Given the description of an element on the screen output the (x, y) to click on. 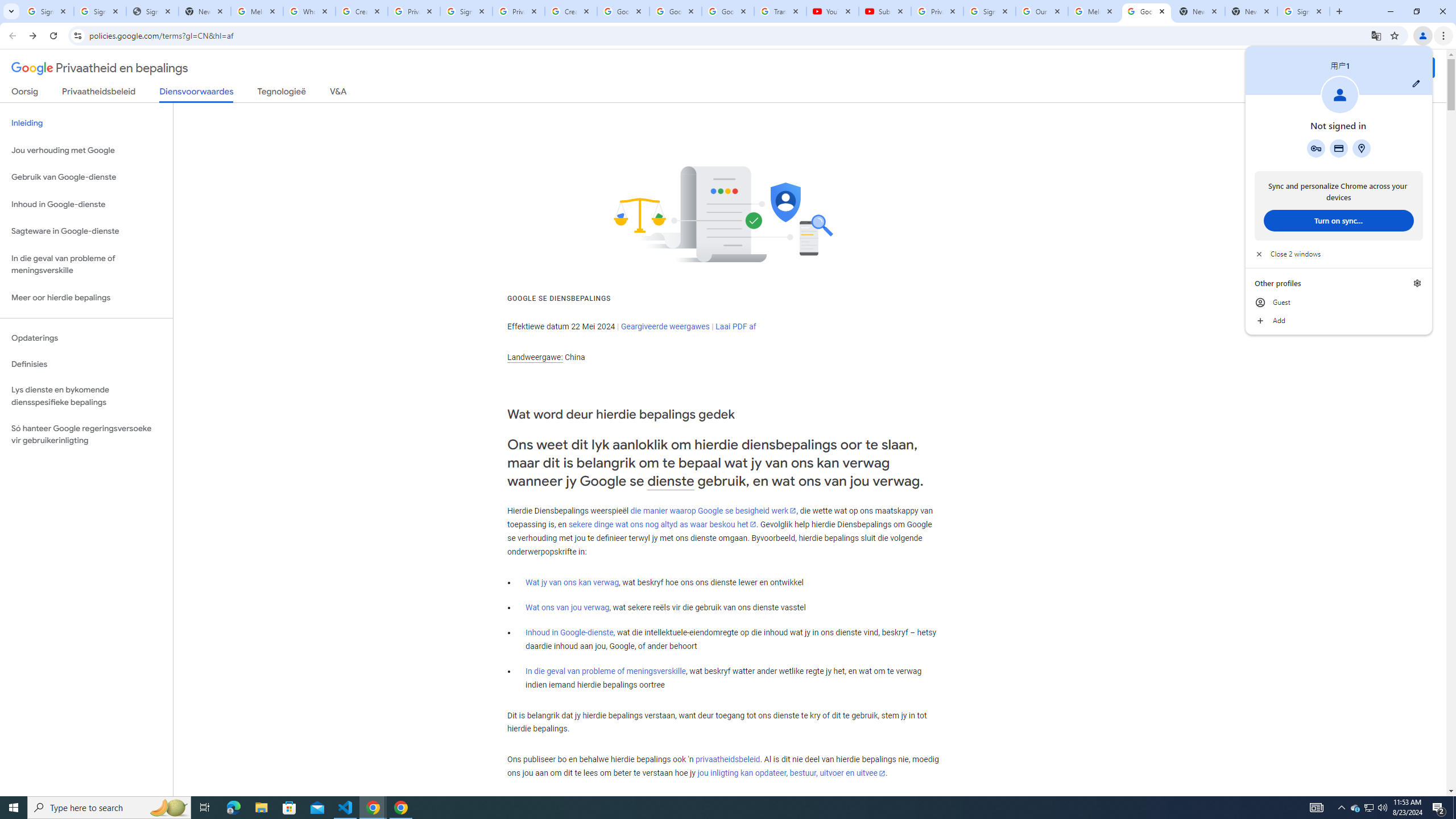
Lys dienste en bykomende diensspesifieke bepalings (86, 396)
Oorsig (25, 93)
Create your Google Account (571, 11)
Payment methods (1338, 148)
AutomationID: 4105 (1316, 807)
Sagteware in Google-dienste (86, 230)
Show desktop (1454, 807)
jou inligting kan opdateer, bestuur, uitvoer en uitvee (791, 773)
Add (1338, 321)
Definisies (86, 363)
Create your Google Account (361, 11)
